Given the description of an element on the screen output the (x, y) to click on. 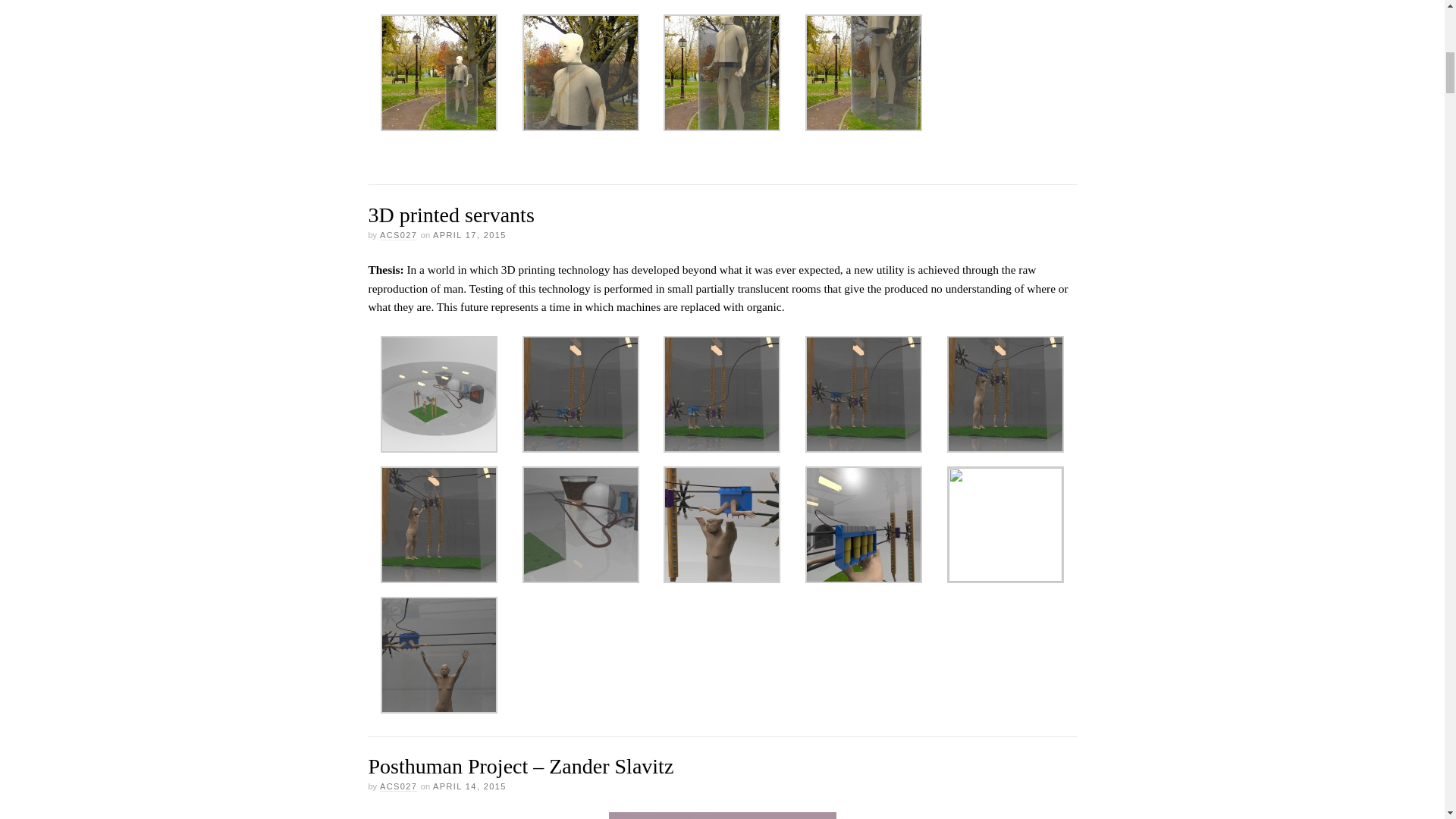
Posts by acs027 (398, 786)
3D printed servants (451, 214)
Posts by acs027 (398, 235)
